Given the description of an element on the screen output the (x, y) to click on. 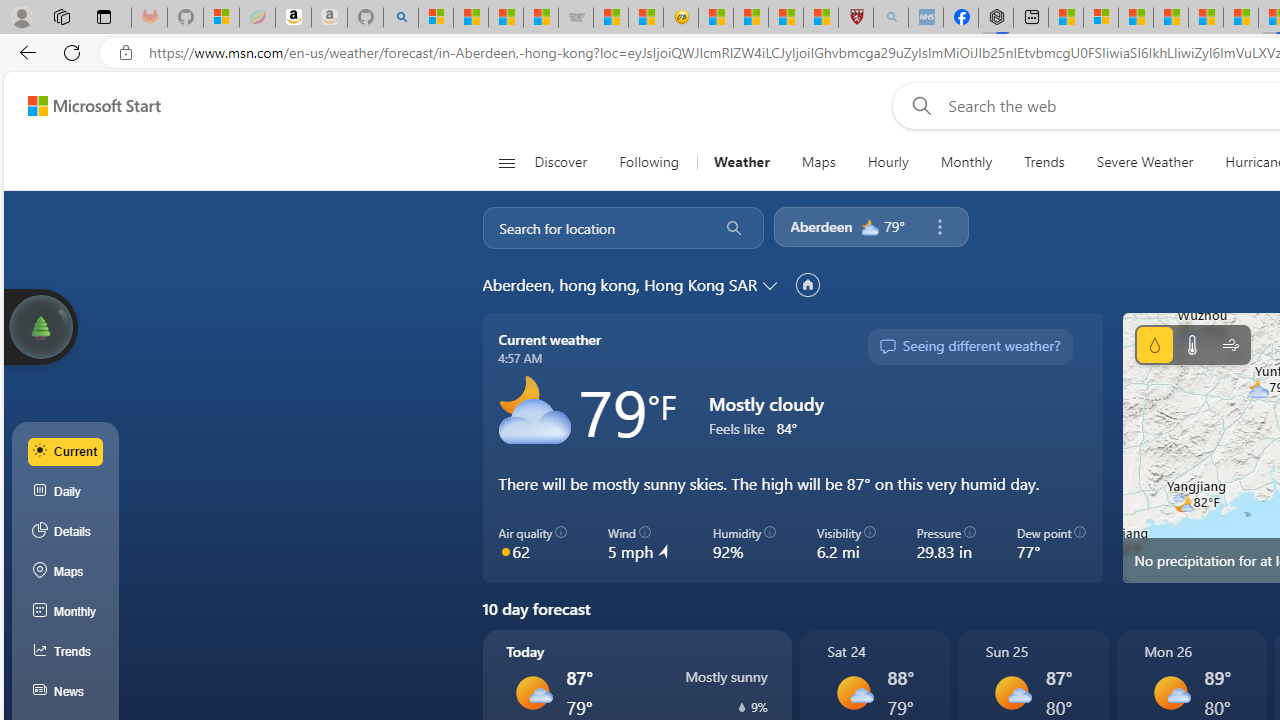
Monthly (966, 162)
Join us in planting real trees to help our planet! (40, 327)
Robert H. Shmerling, MD - Harvard Health (855, 17)
Set as primary location (808, 284)
Trends (65, 651)
Maps (65, 572)
Combat Siege (575, 17)
12 Popular Science Lies that Must be Corrected (820, 17)
